Given the description of an element on the screen output the (x, y) to click on. 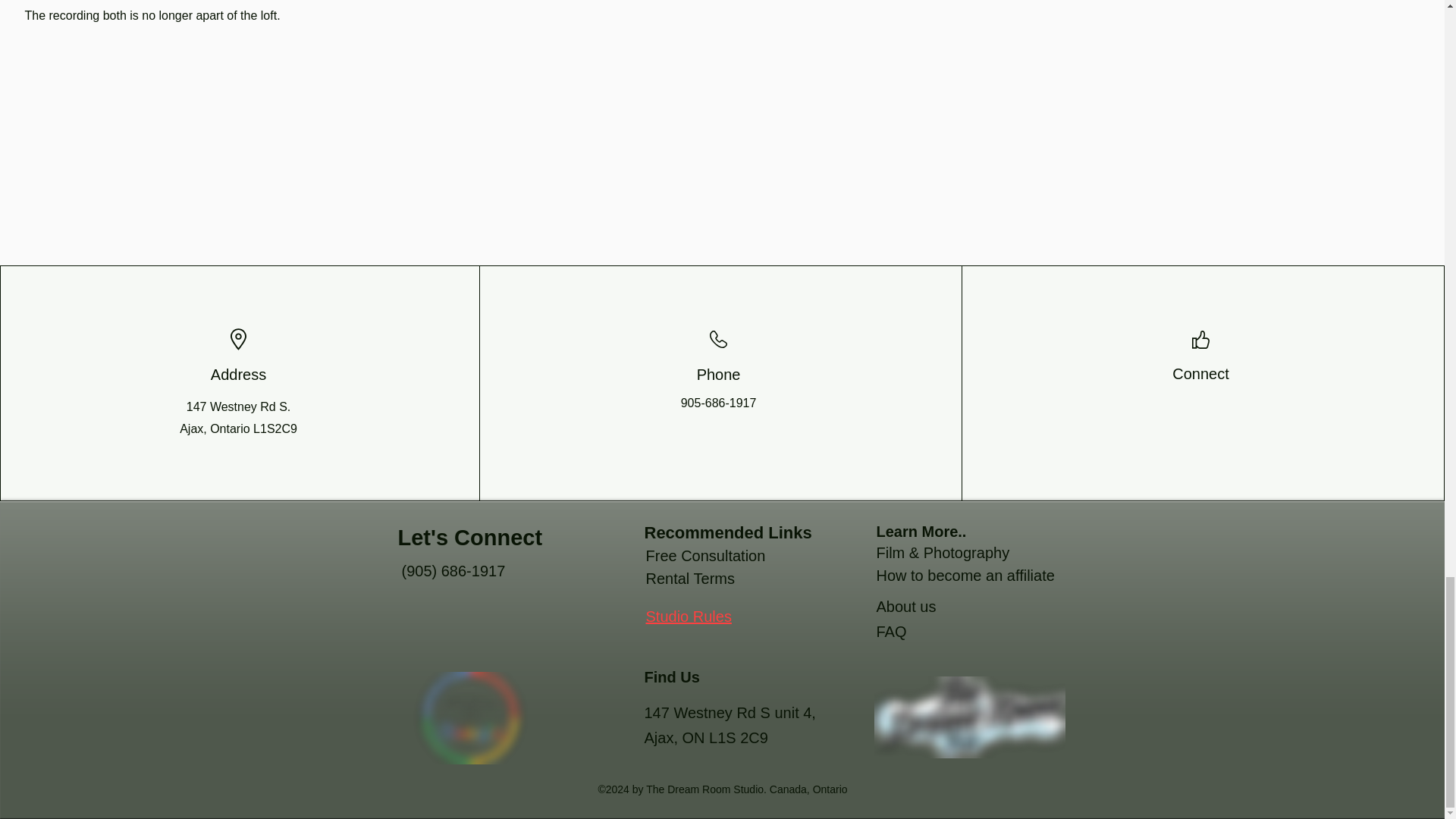
Free Consultation (705, 555)
Recommended Links (728, 532)
Studio Rules (689, 616)
About us (906, 606)
Learn More.. (921, 531)
Rental Terms (690, 578)
FAQ (891, 631)
147 Westney Rd S unit 4, Ajax, ON L1S 2C9 (730, 725)
